Given the description of an element on the screen output the (x, y) to click on. 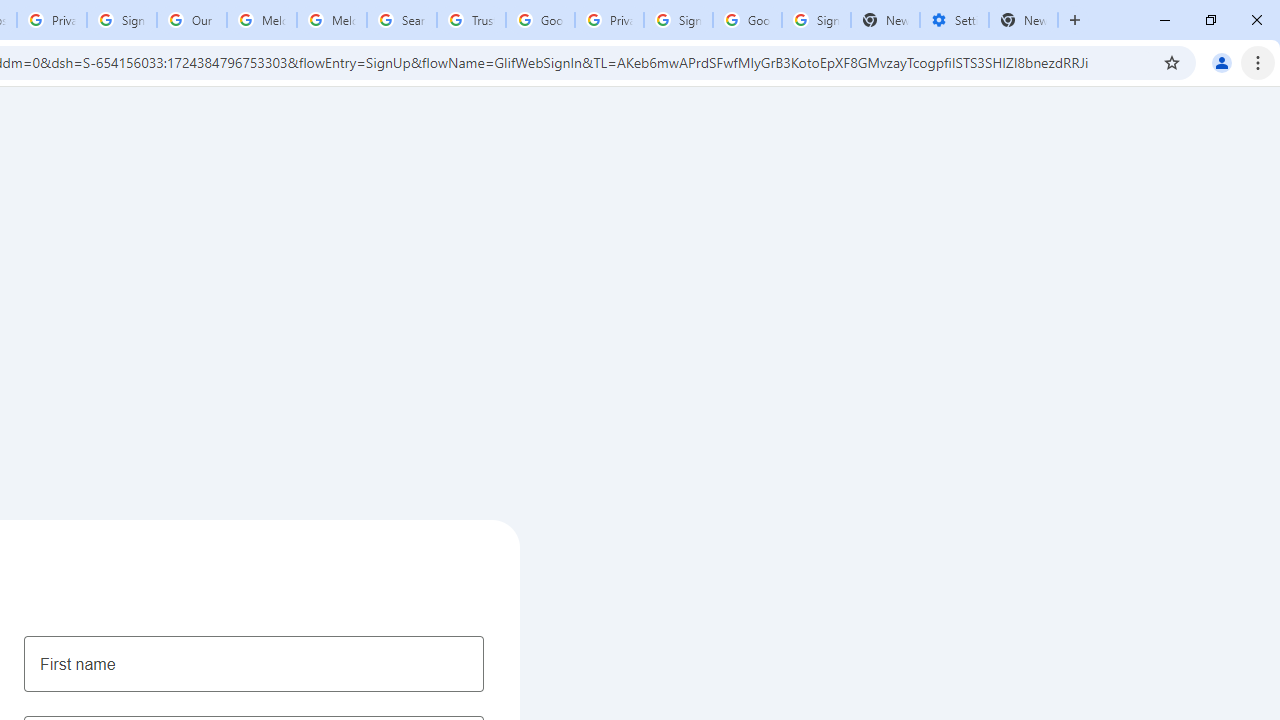
Google Ads - Sign in (539, 20)
Sign in - Google Accounts (816, 20)
Search our Doodle Library Collection - Google Doodles (401, 20)
Google Cybersecurity Innovations - Google Safety Center (747, 20)
Trusted Information and Content - Google Safety Center (470, 20)
